Given the description of an element on the screen output the (x, y) to click on. 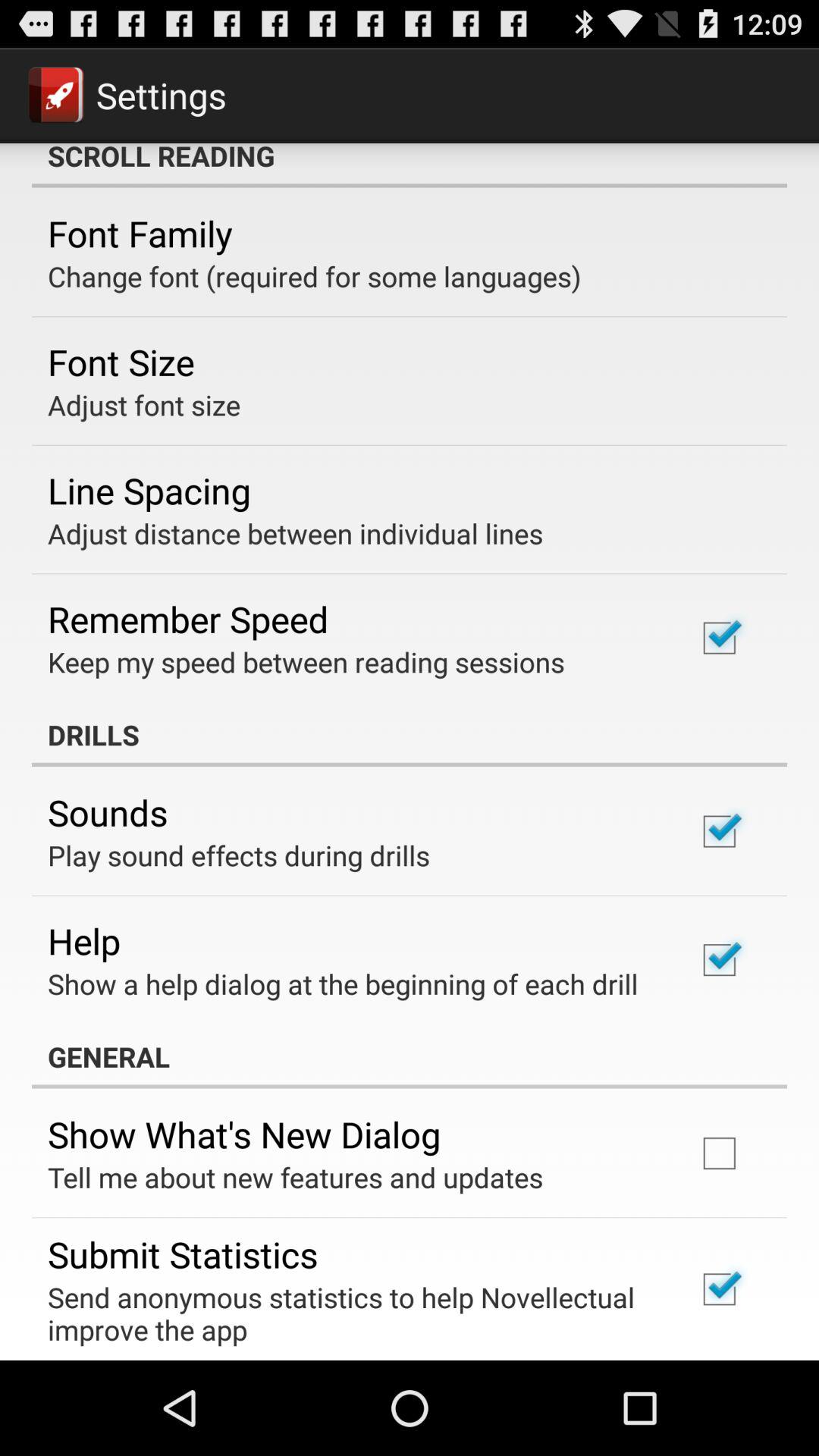
launch the item above the drills app (305, 661)
